Given the description of an element on the screen output the (x, y) to click on. 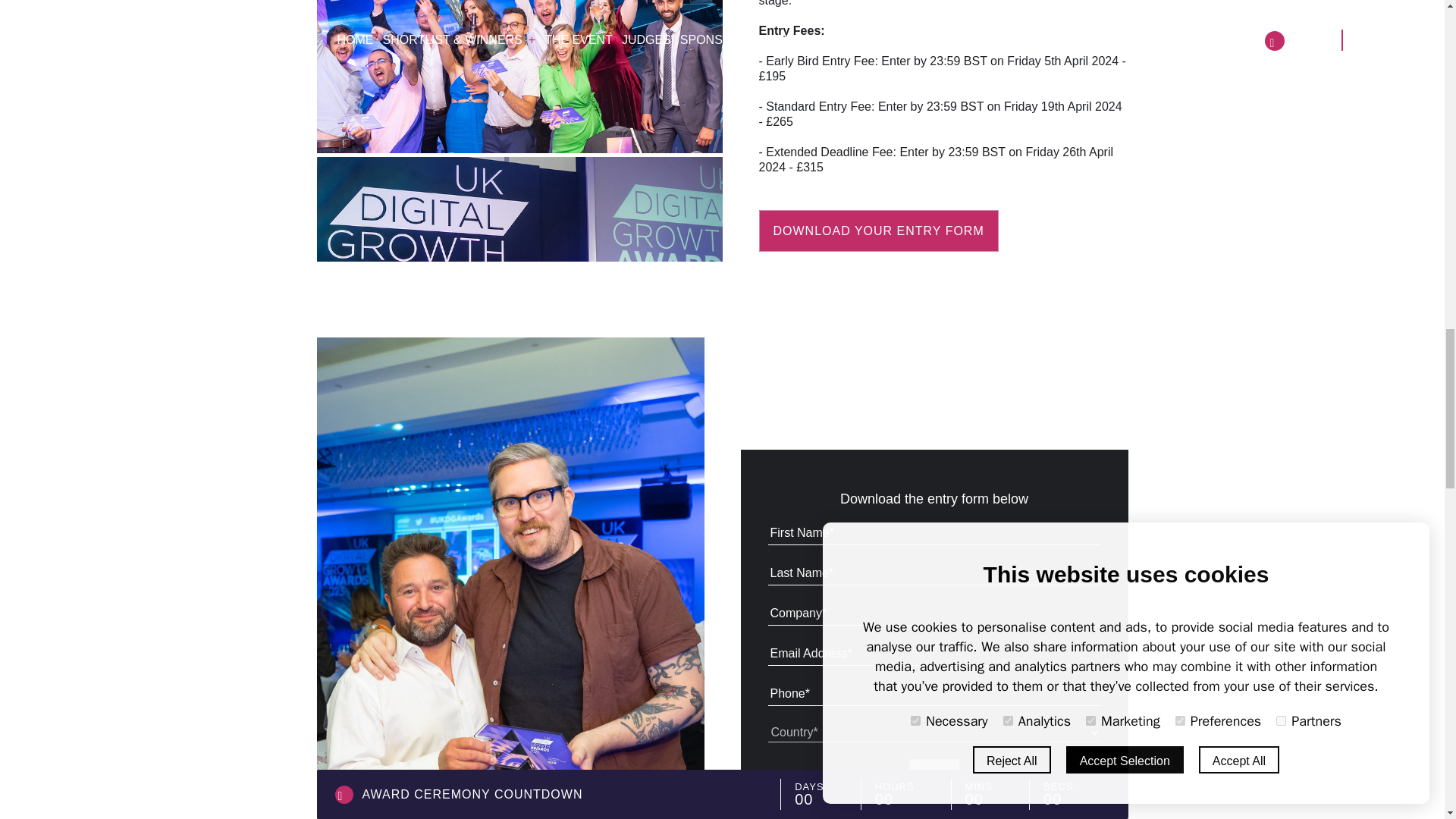
Submit (933, 771)
DOWNLOAD YOUR ENTRY FORM (877, 230)
